Given the description of an element on the screen output the (x, y) to click on. 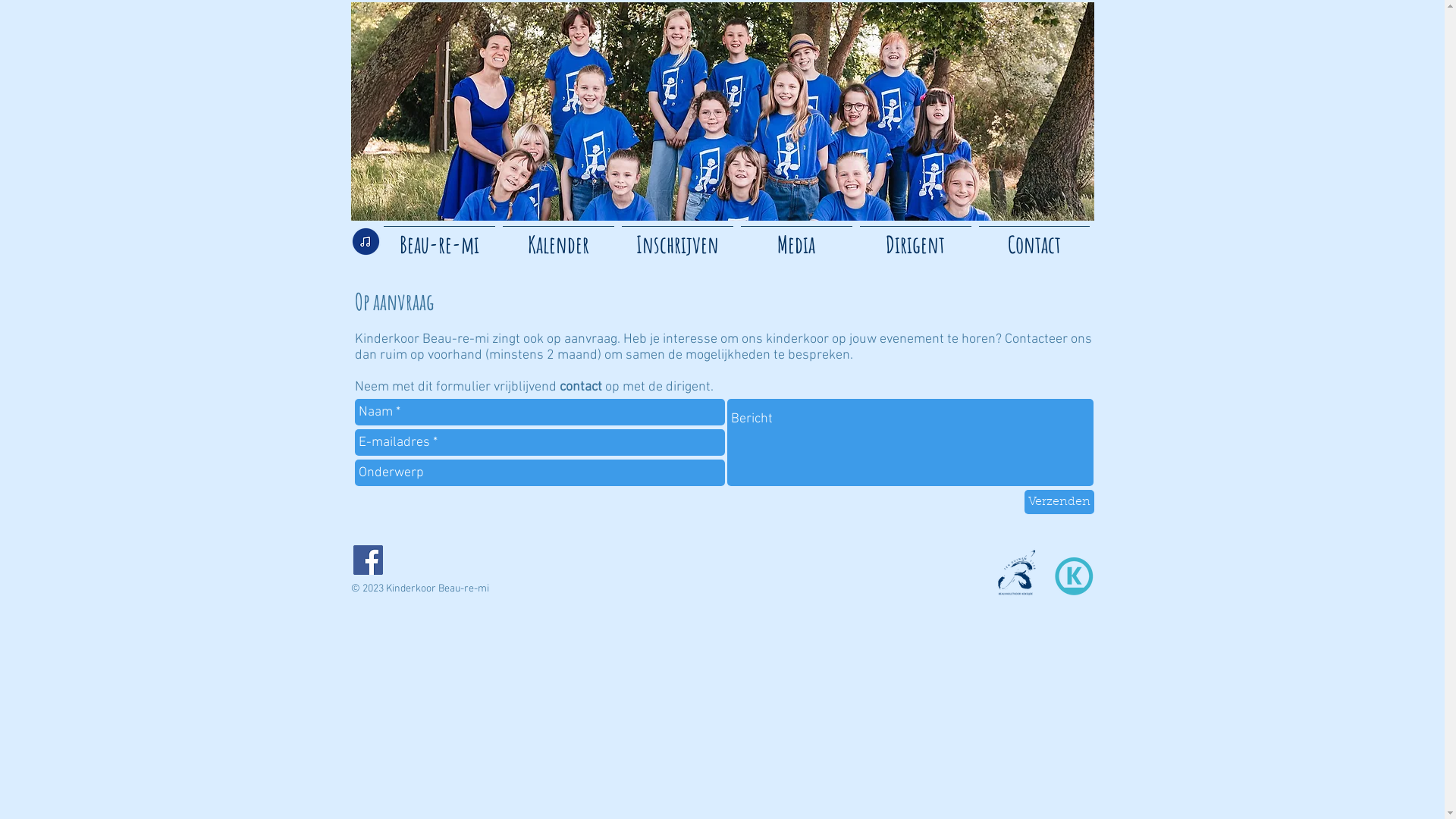
Kalender Element type: text (558, 237)
Verzenden Element type: text (1058, 501)
Inschrijven Element type: text (676, 237)
Dirigent Element type: text (914, 237)
Beau-re-mi Element type: text (438, 237)
